Given the description of an element on the screen output the (x, y) to click on. 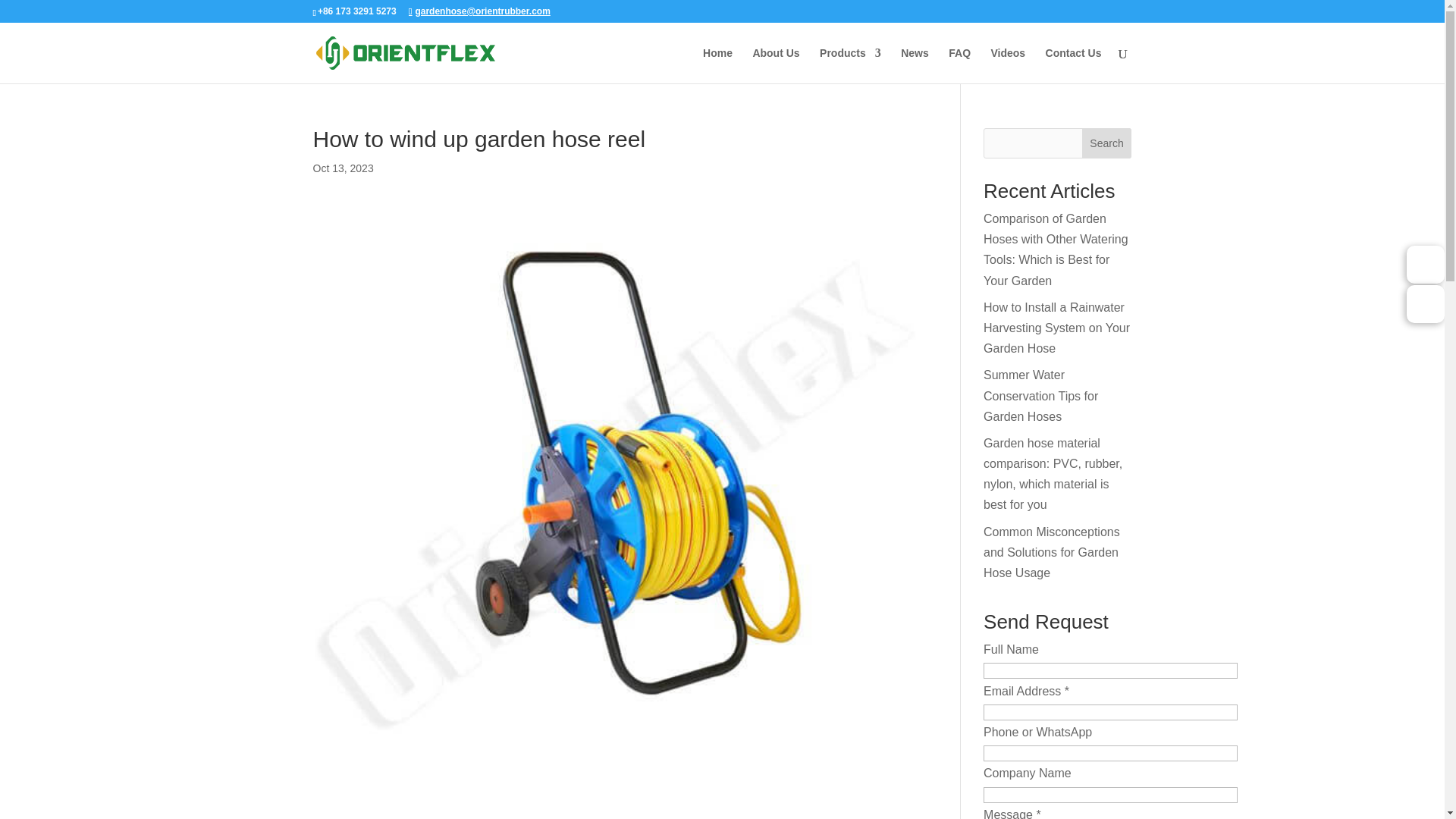
About Us (775, 65)
Products (849, 65)
